Given the description of an element on the screen output the (x, y) to click on. 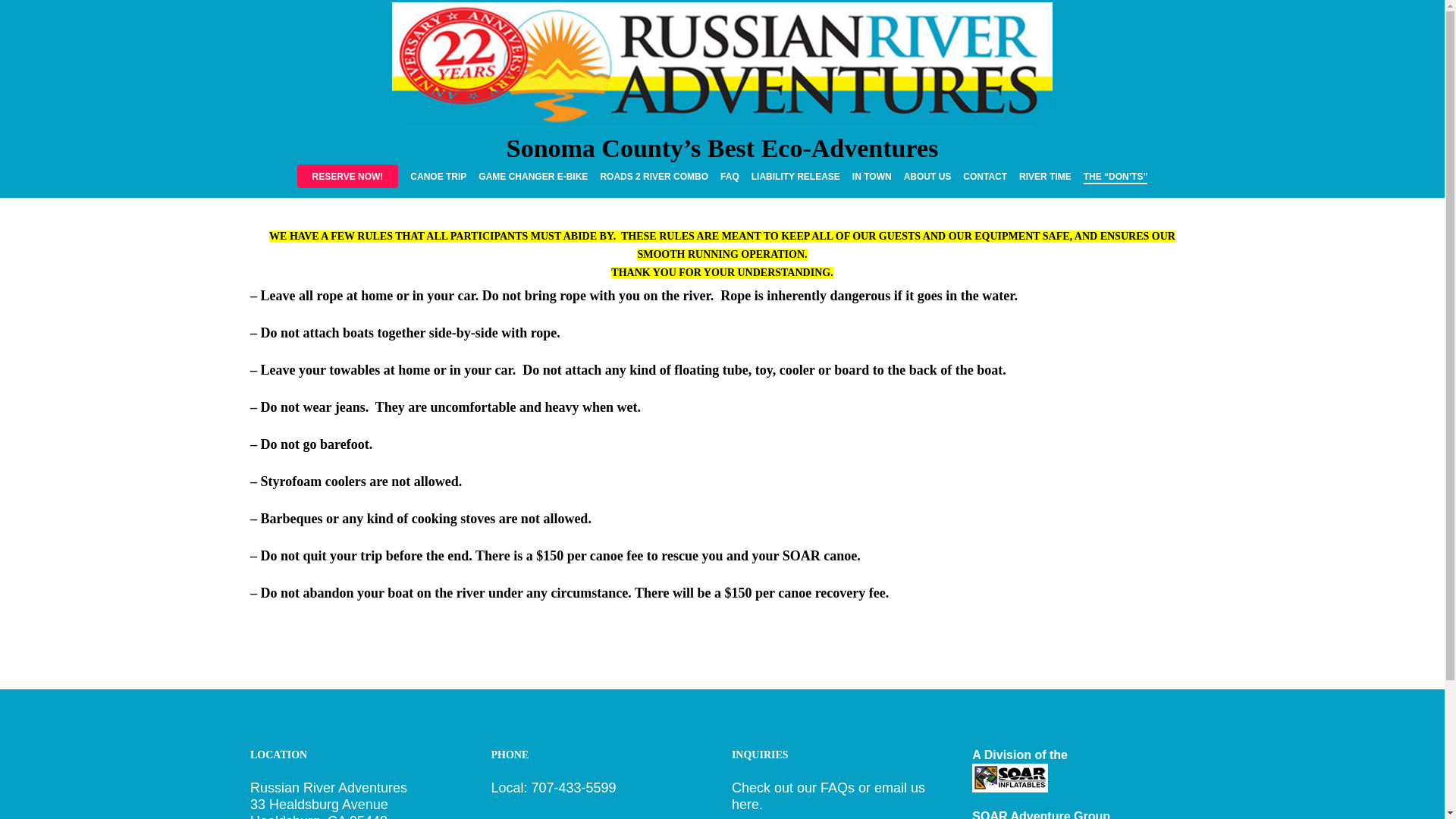
RESERVE NOW! (347, 176)
ROADS 2 RIVER COMBO (653, 176)
RIVER TIME (1045, 176)
IN TOWN (871, 176)
GAME CHANGER E-BIKE (533, 176)
CONTACT (984, 176)
LIABILITY RELEASE (795, 176)
ABOUT US (928, 176)
FAQ (729, 176)
CANOE TRIP (437, 176)
